Given the description of an element on the screen output the (x, y) to click on. 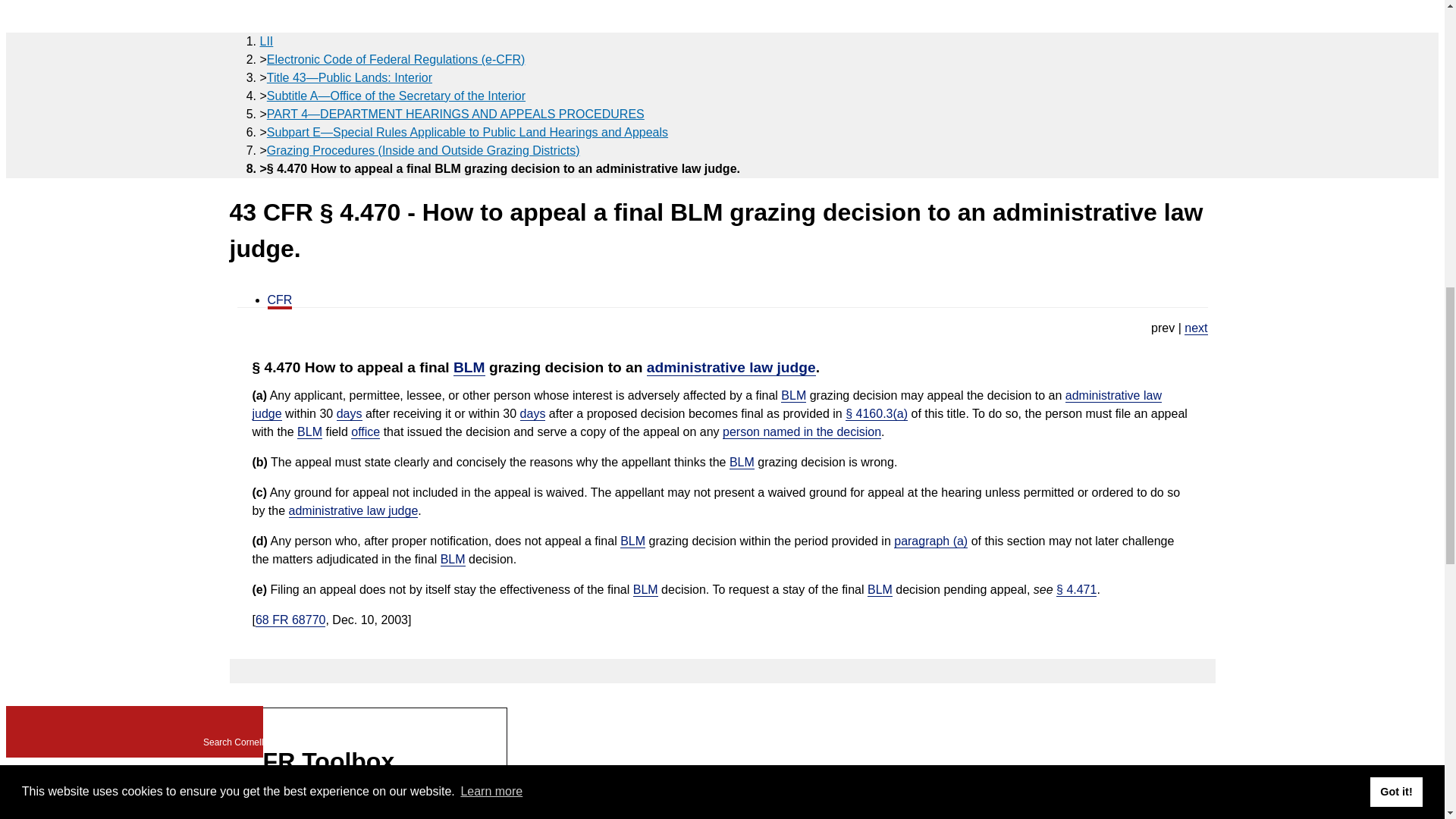
Legal encyclopedia (48, 131)
How to petition for a stay of a final BLM grazing decision. (1196, 327)
Lawyer directory (32, 82)
About LII (37, 20)
Get the law (45, 45)
